Given the description of an element on the screen output the (x, y) to click on. 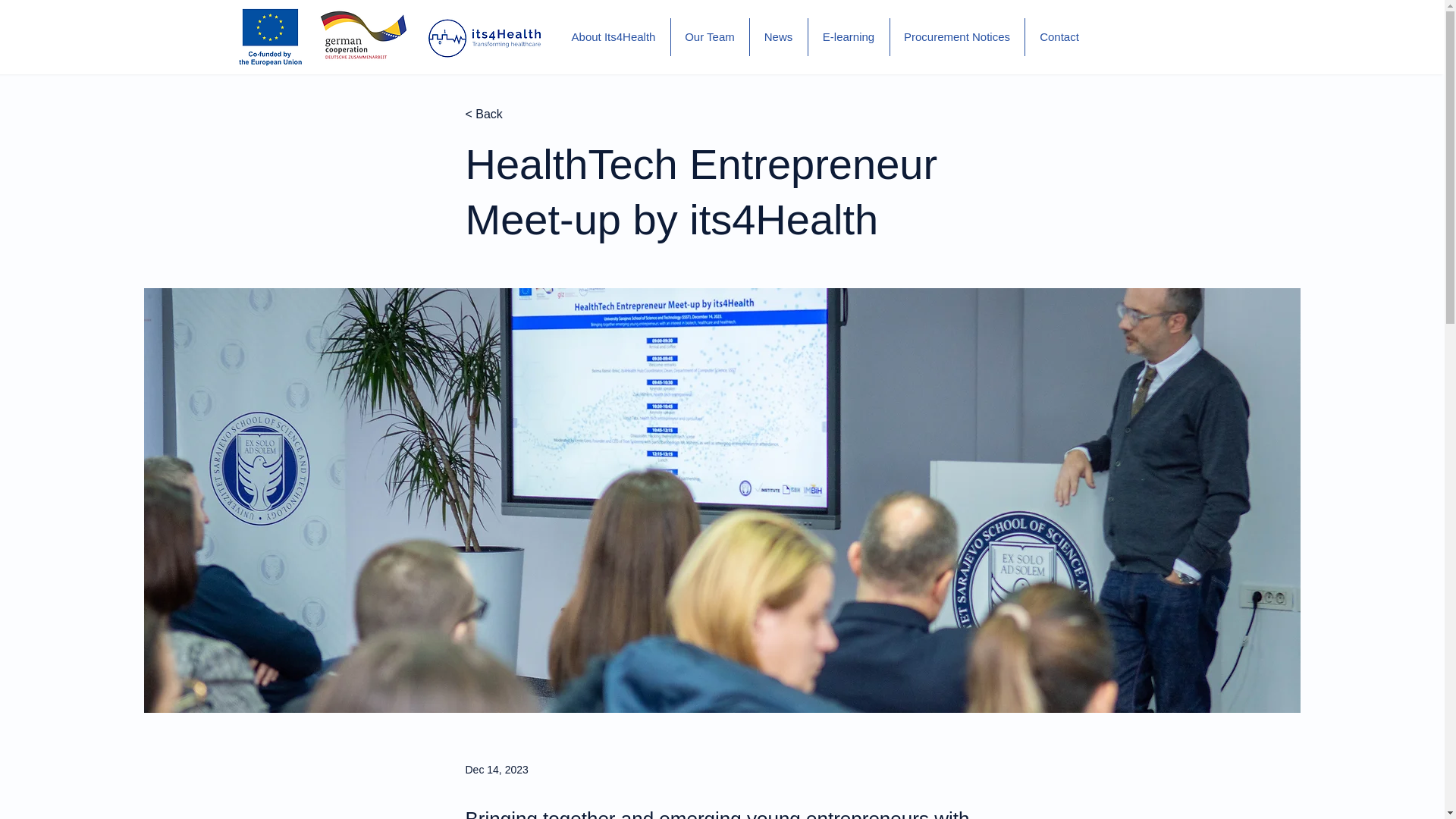
Our Team (708, 37)
News (777, 37)
Contact (1059, 37)
Procurement Notices (957, 37)
About Its4Health (612, 37)
E-learning (848, 37)
